Given the description of an element on the screen output the (x, y) to click on. 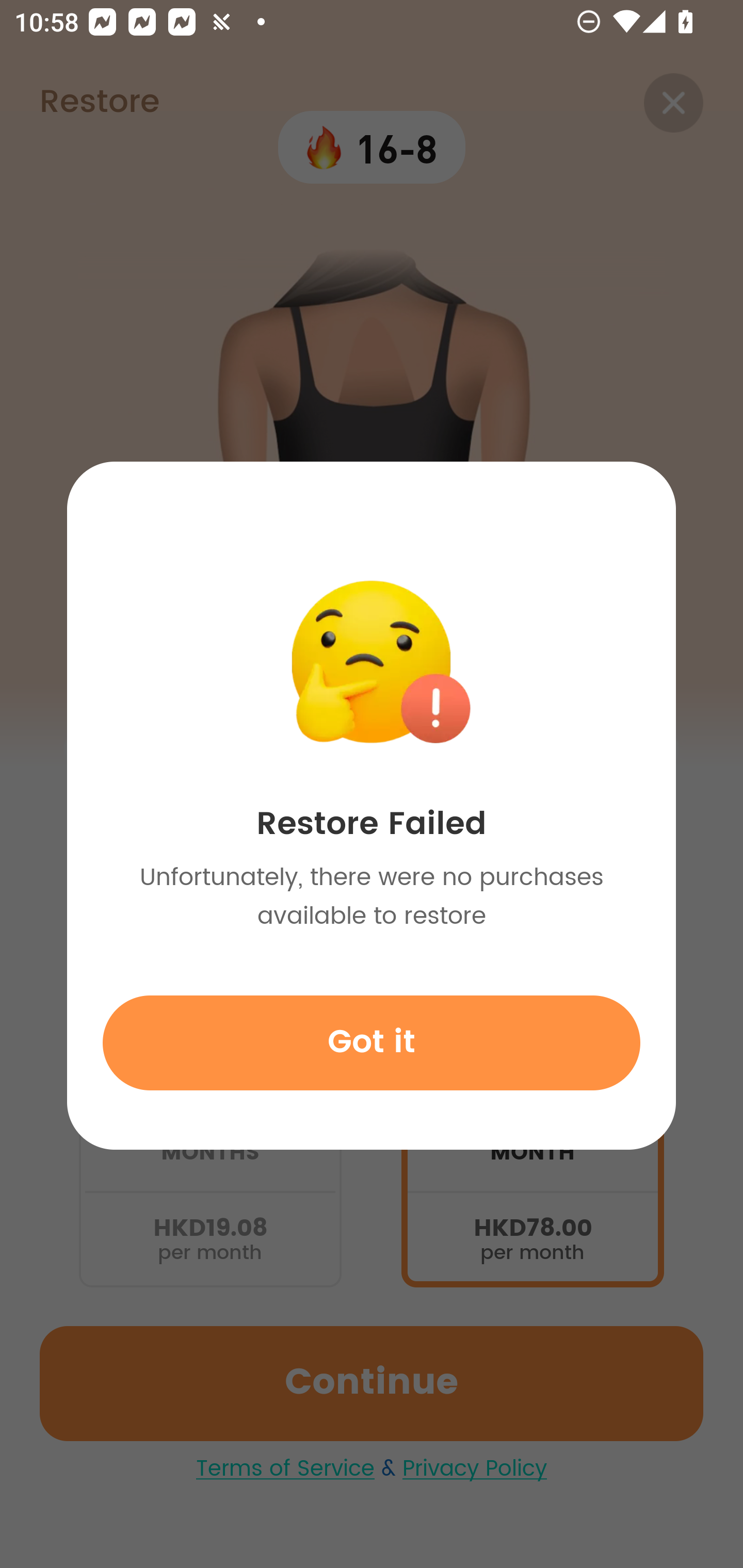
Got it (371, 1042)
